Given the description of an element on the screen output the (x, y) to click on. 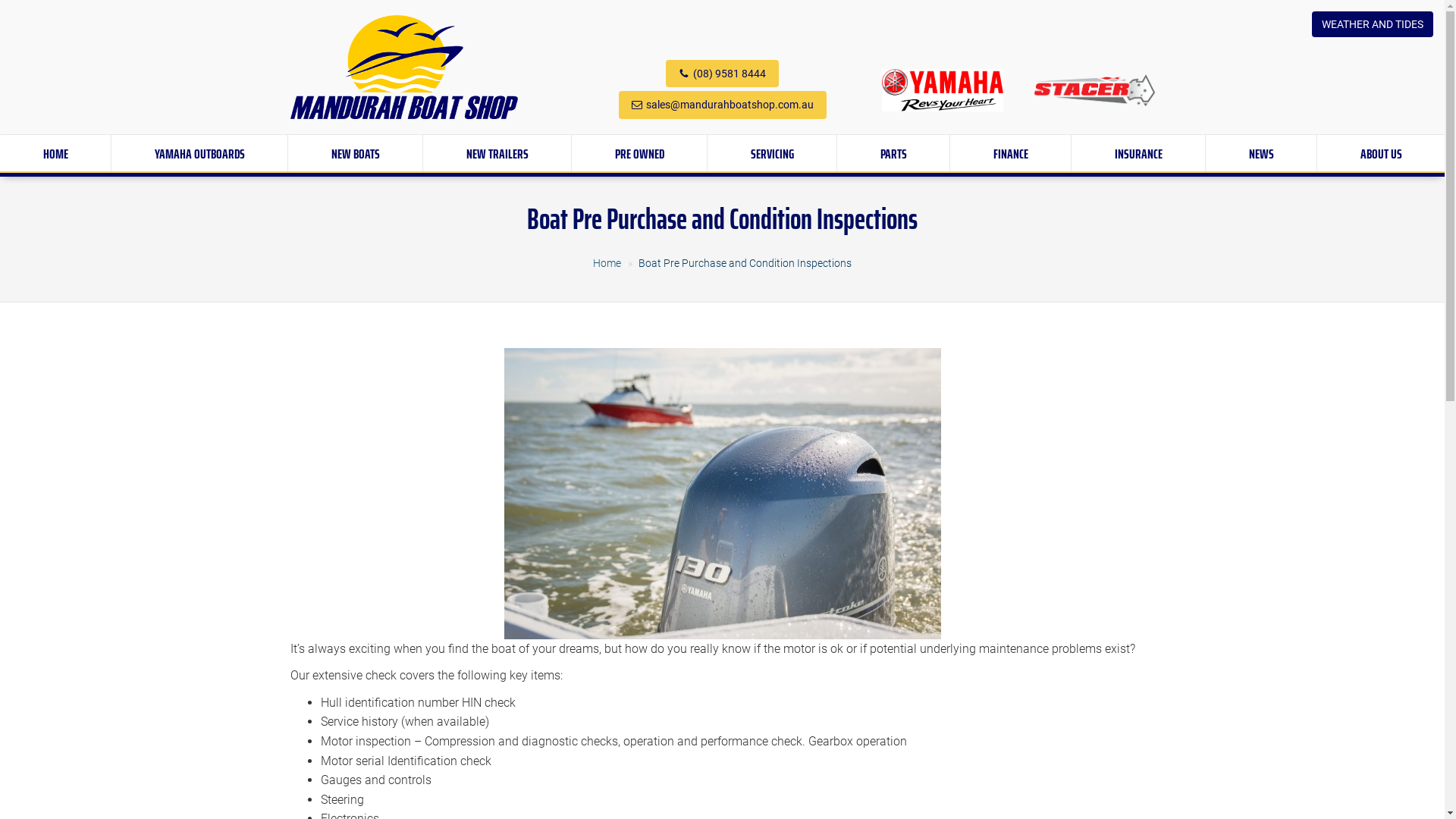
Home Element type: text (607, 263)
PRE OWNED Element type: text (638, 153)
YAMAHA OUTBOARDS Element type: text (199, 153)
sales@mandurahboatshop.com.au Element type: text (729, 104)
PARTS Element type: text (893, 153)
ABOUT US Element type: text (1380, 153)
... Element type: hover (403, 67)
WEATHER AND TIDES Element type: text (1372, 24)
FINANCE Element type: text (1010, 153)
SERVICING Element type: text (771, 153)
(08) 9581 8444 Element type: text (729, 73)
NEWS Element type: text (1260, 153)
NEW TRAILERS Element type: text (497, 153)
INSURANCE Element type: text (1137, 153)
HOME Element type: text (55, 153)
NEW BOATS Element type: text (355, 153)
